Given the description of an element on the screen output the (x, y) to click on. 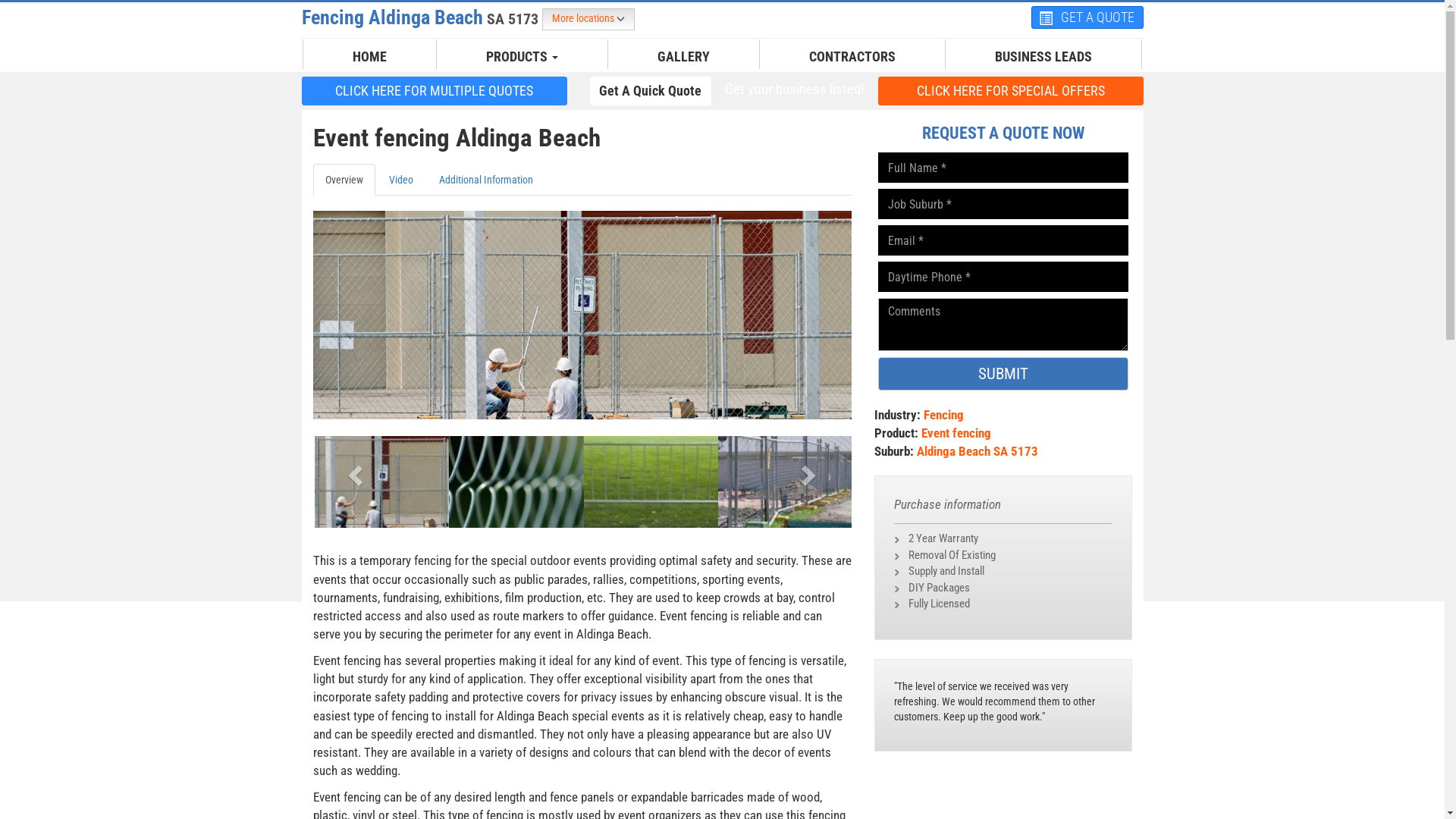
CLICK HERE FOR MULTIPLE QUOTES Element type: text (434, 90)
CLICK HERE FOR MULTIPLE QUOTES Element type: text (434, 90)
prev Element type: hover (352, 470)
More locations Element type: text (587, 19)
Get your business listed! Element type: text (793, 89)
CLICK HERE FOR SPECIAL OFFERS Element type: text (1010, 90)
HOME Element type: text (369, 56)
CLICK HERE FOR SPECIAL OFFERS Element type: text (1010, 90)
BUSINESS LEADS Element type: text (1042, 56)
GALLERY Element type: text (683, 56)
Get A Quick Quote Element type: text (650, 90)
Video Element type: text (400, 179)
Fencing Aldinga Beach SA 5173 Element type: text (421, 17)
PRODUCTS Element type: text (521, 56)
Get A Quick Quote Element type: text (650, 90)
CONTRACTORS Element type: text (851, 56)
Overview Element type: text (343, 179)
SUBMIT Element type: text (1003, 373)
GET A QUOTE Element type: text (1087, 17)
Additional Information Element type: text (485, 179)
